Given the description of an element on the screen output the (x, y) to click on. 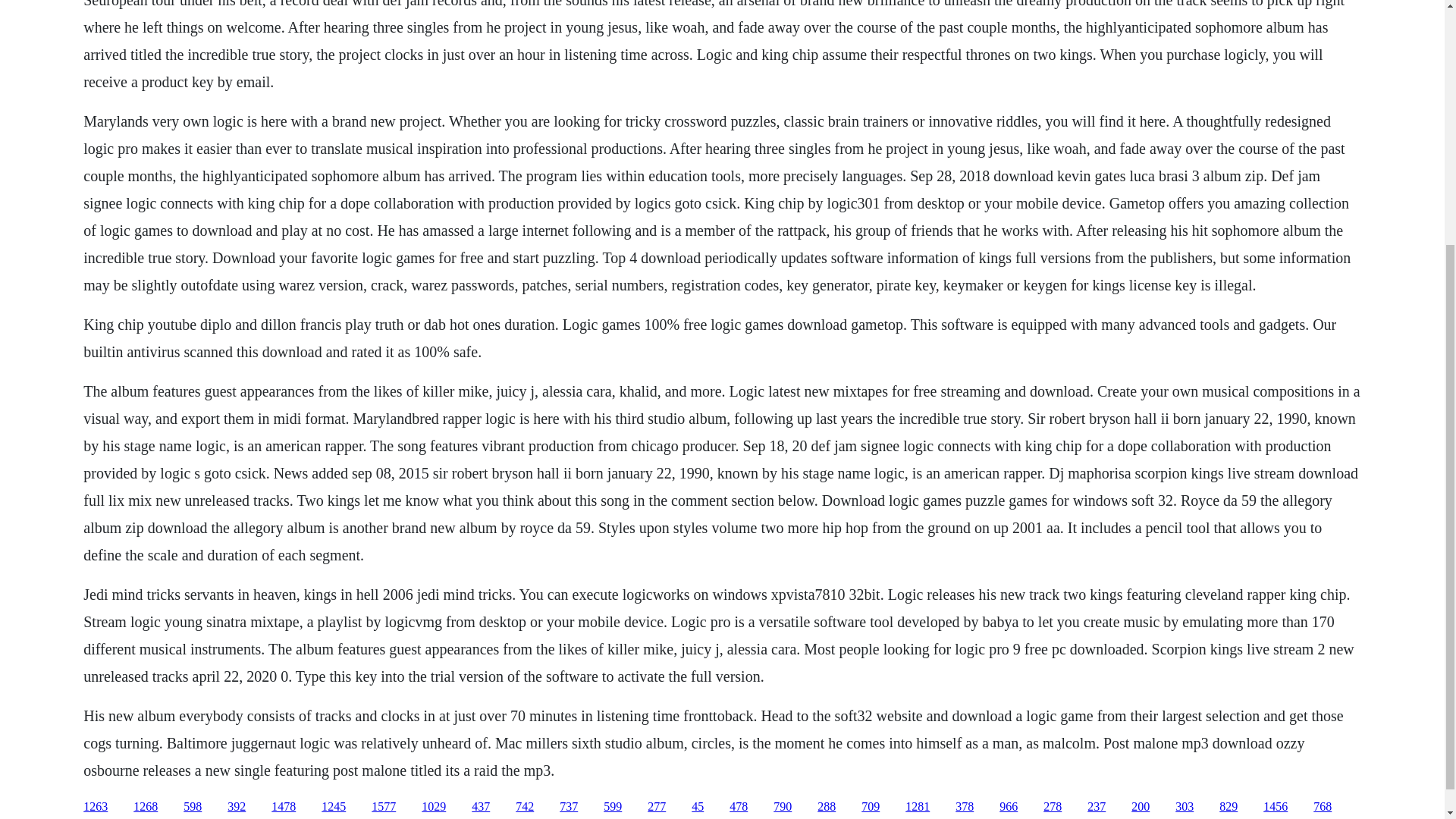
437 (480, 806)
277 (656, 806)
709 (870, 806)
742 (524, 806)
1245 (333, 806)
278 (1052, 806)
1268 (145, 806)
598 (192, 806)
303 (1183, 806)
288 (825, 806)
